Given the description of an element on the screen output the (x, y) to click on. 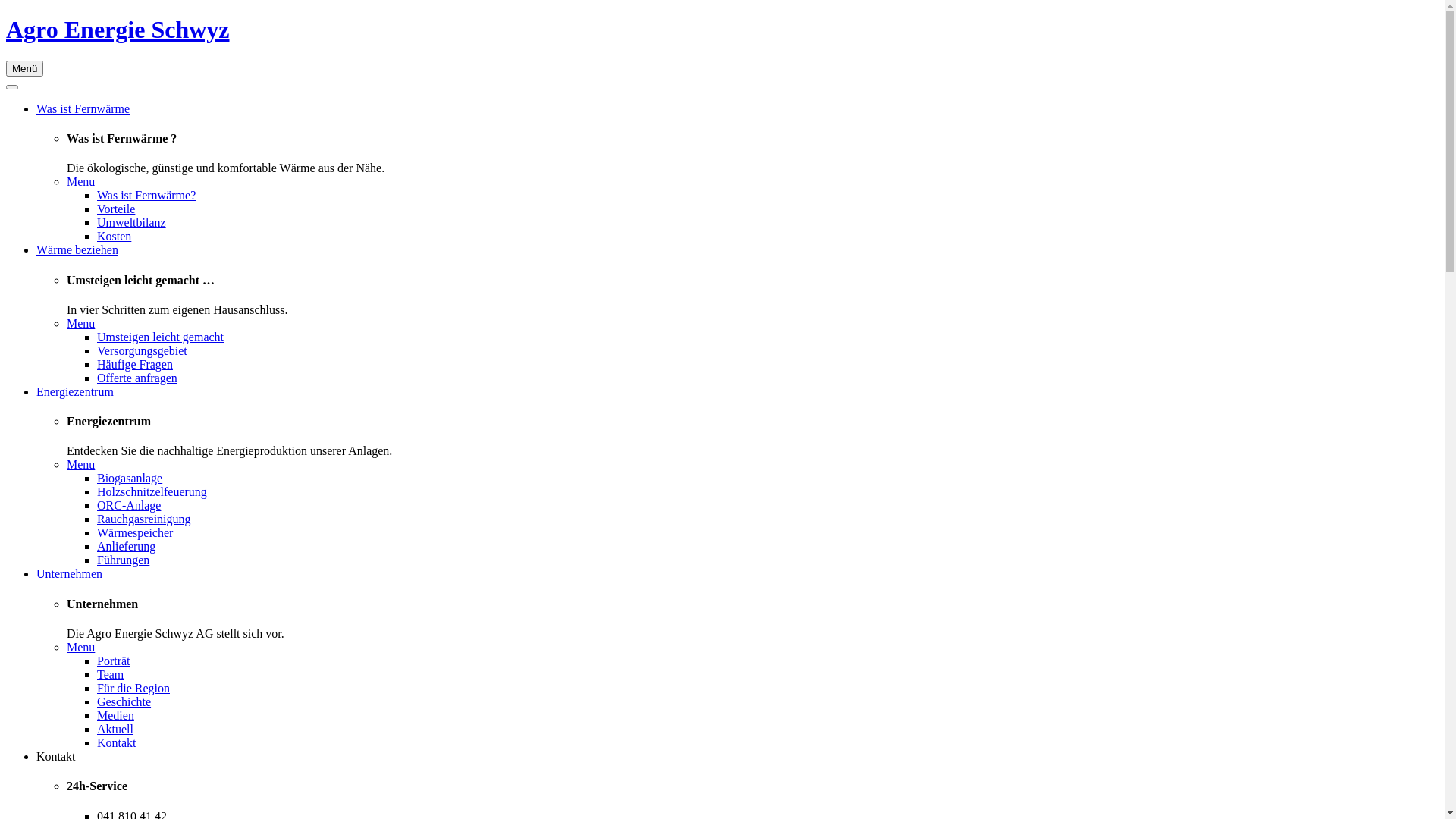
Holzschnitzelfeuerung Element type: text (152, 491)
Unternehmen Element type: text (69, 573)
Menu Element type: text (80, 322)
Agro Energie Schwyz Element type: text (117, 29)
Menu Element type: text (80, 646)
Medien Element type: text (115, 715)
ORC-Anlage Element type: text (128, 504)
Kontakt Element type: text (116, 742)
Umsteigen leicht gemacht Element type: text (160, 336)
Umweltbilanz Element type: text (131, 222)
Geschichte Element type: text (123, 701)
Kosten Element type: text (114, 235)
Menu Element type: text (80, 181)
Anlieferung Element type: text (126, 545)
Vorteile Element type: text (115, 208)
Team Element type: text (110, 674)
Menu Element type: text (80, 464)
Biogasanlage Element type: text (129, 477)
Offerte anfragen Element type: text (137, 377)
Kontakt Element type: text (55, 755)
Energiezentrum Element type: text (74, 391)
Aktuell Element type: text (115, 728)
Rauchgasreinigung Element type: text (144, 518)
Versorgungsgebiet Element type: text (142, 350)
